Given the description of an element on the screen output the (x, y) to click on. 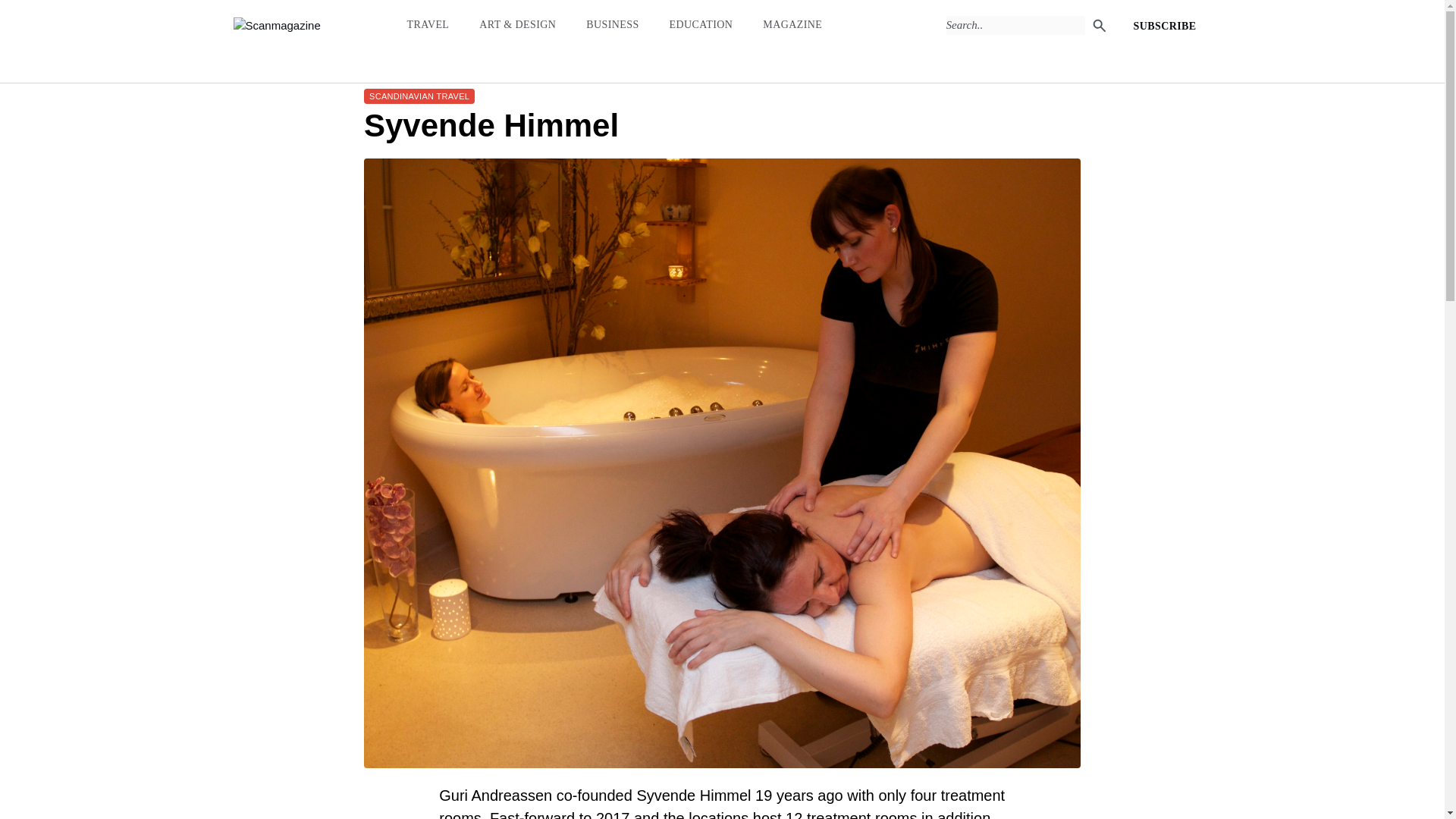
EDUCATION (701, 24)
TRAVEL (427, 24)
MAGAZINE (792, 24)
BUSINESS (612, 24)
